Given the description of an element on the screen output the (x, y) to click on. 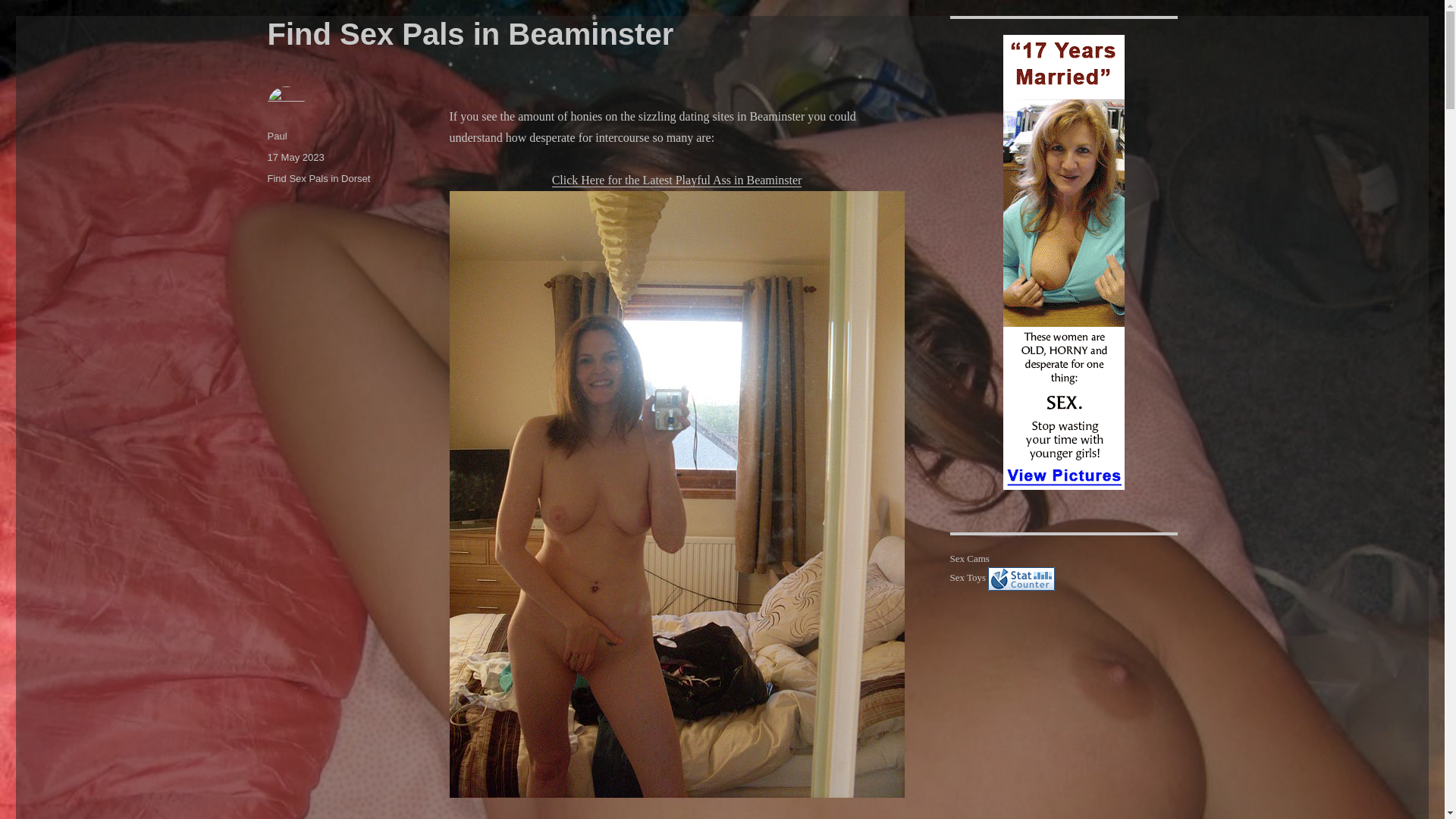
Sex Toys (967, 577)
Click Here for the Latest Playful Ass in Beaminster (676, 179)
Find Sex Pals in Dorset (317, 178)
Sex Cams (968, 558)
17 May 2023 (294, 156)
Paul (276, 135)
